Given the description of an element on the screen output the (x, y) to click on. 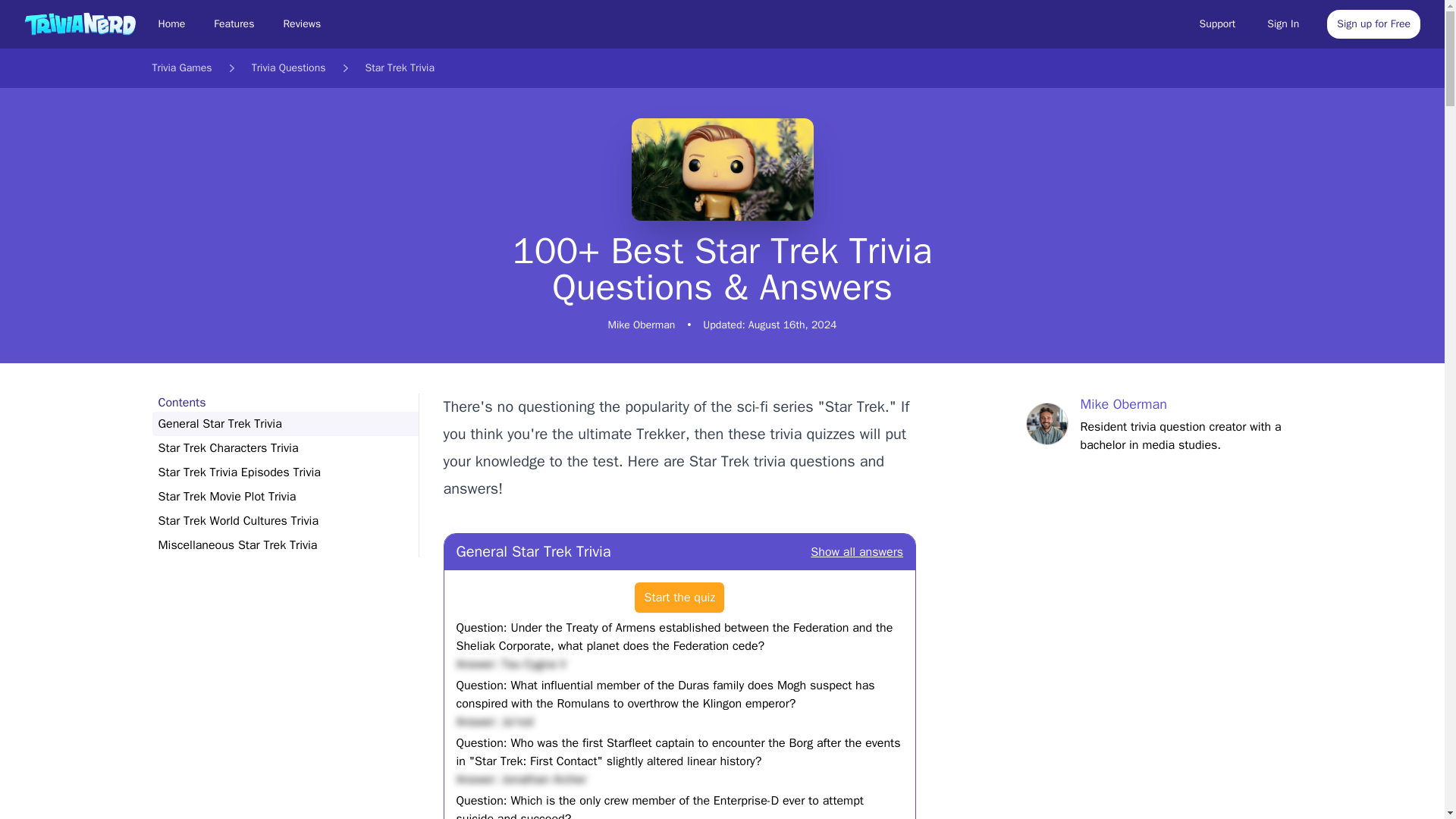
Sign In (1282, 23)
Star Trek Trivia (399, 68)
Trivia Games (181, 68)
Star Trek Trivia Episodes Trivia (284, 472)
Star Trek World Cultures Trivia (284, 520)
Features (233, 23)
Star Trek Movie Plot Trivia (284, 496)
Home (171, 23)
Reviews (301, 23)
Miscellaneous Star Trek Trivia (284, 545)
